Given the description of an element on the screen output the (x, y) to click on. 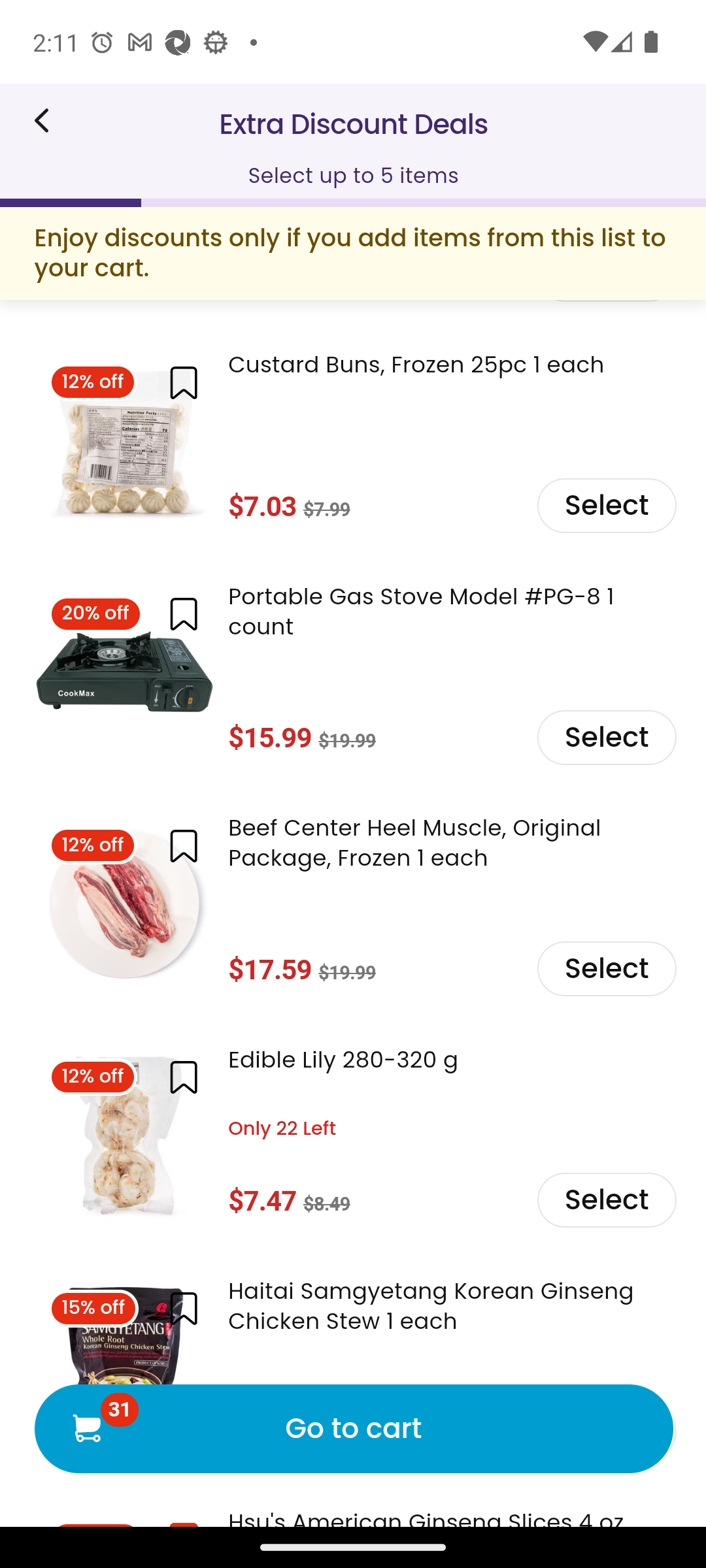
Weee! - Groceries Delivered (47, 119)
 (182, 381)
Select (606, 506)
 (182, 614)
Select (606, 736)
 (182, 845)
Select (606, 969)
 (182, 1076)
Select (606, 1200)
 (182, 1309)
31  (86, 1428)
